Given the description of an element on the screen output the (x, y) to click on. 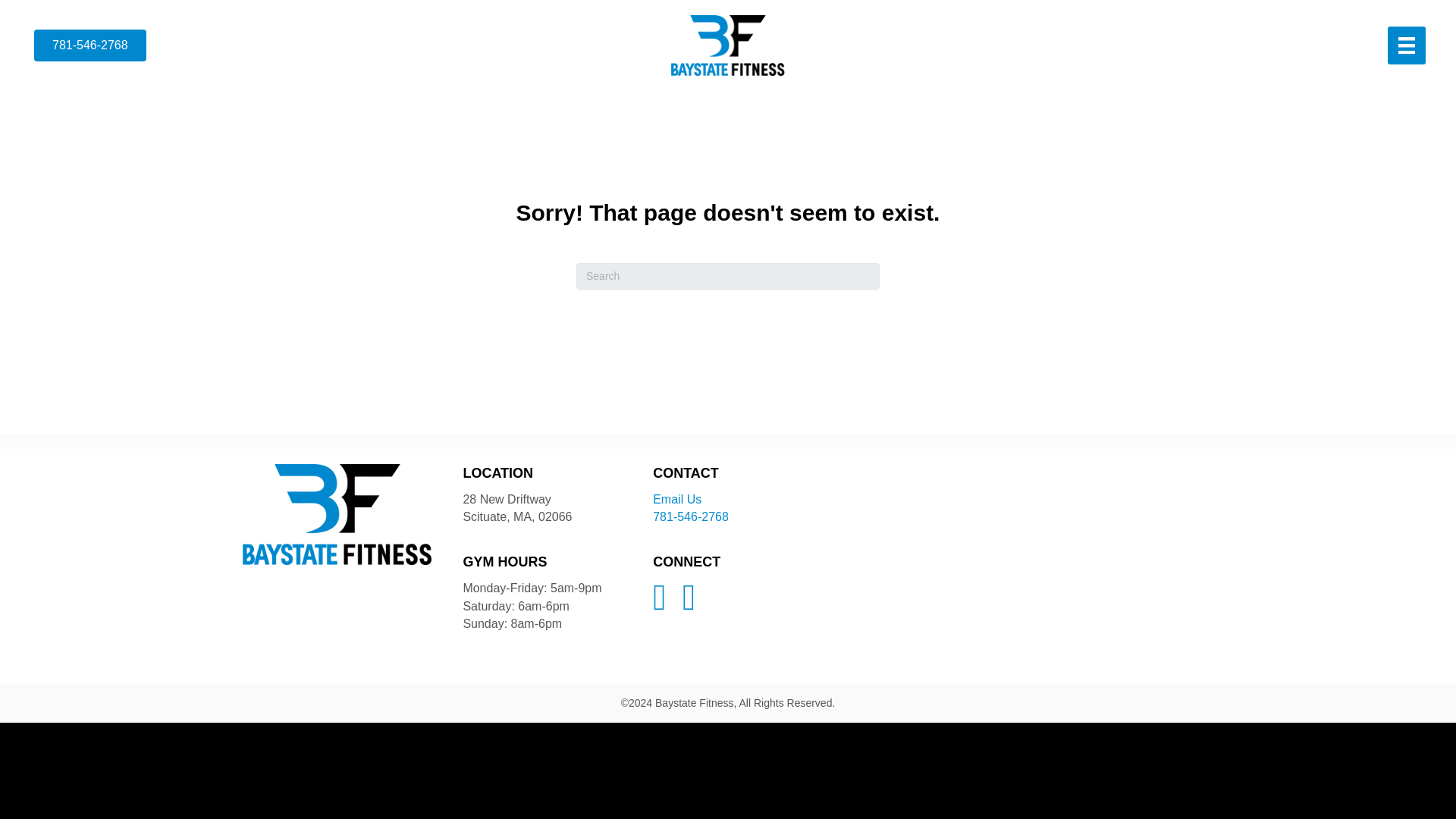
Google Map of Baystate Fitness (1007, 558)
Baystate-Fitness-Stacked-2c-black (337, 514)
Type and press Enter to search. (727, 275)
781-546-2768 (690, 516)
Email Us (676, 499)
781-546-2768 (90, 45)
Baystate-Fitness-Stacked-2c-black (727, 45)
